Given the description of an element on the screen output the (x, y) to click on. 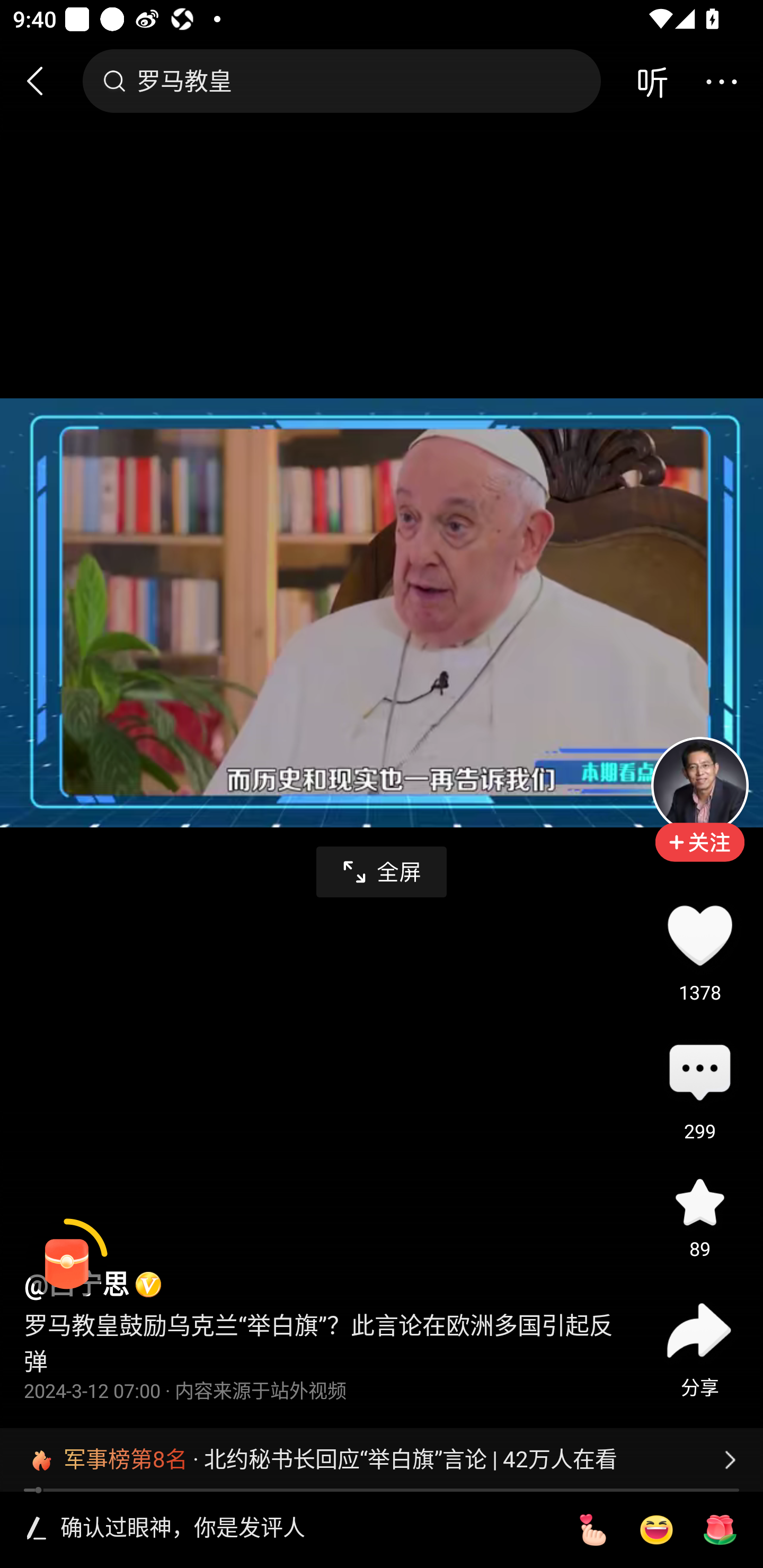
罗马教皇 搜索框，罗马教皇 (341, 80)
返回 (43, 80)
音频 (651, 80)
更多操作 (720, 80)
头像 (699, 785)
加关注 (699, 855)
全屏播放 (381, 871)
点赞1378 1378 (699, 935)
评论299 评论 299 (699, 1074)
收藏 89 (699, 1201)
阅读赚金币 (66, 1259)
分享 (699, 1330)
军事榜第8名  · 北约秘书长回应“举白旗”言论  | 42万人在看 (381, 1459)
确认过眼神，你是发评人 (305, 1529)
[比心] (592, 1530)
[大笑] (656, 1530)
[玫瑰] (719, 1530)
